Given the description of an element on the screen output the (x, y) to click on. 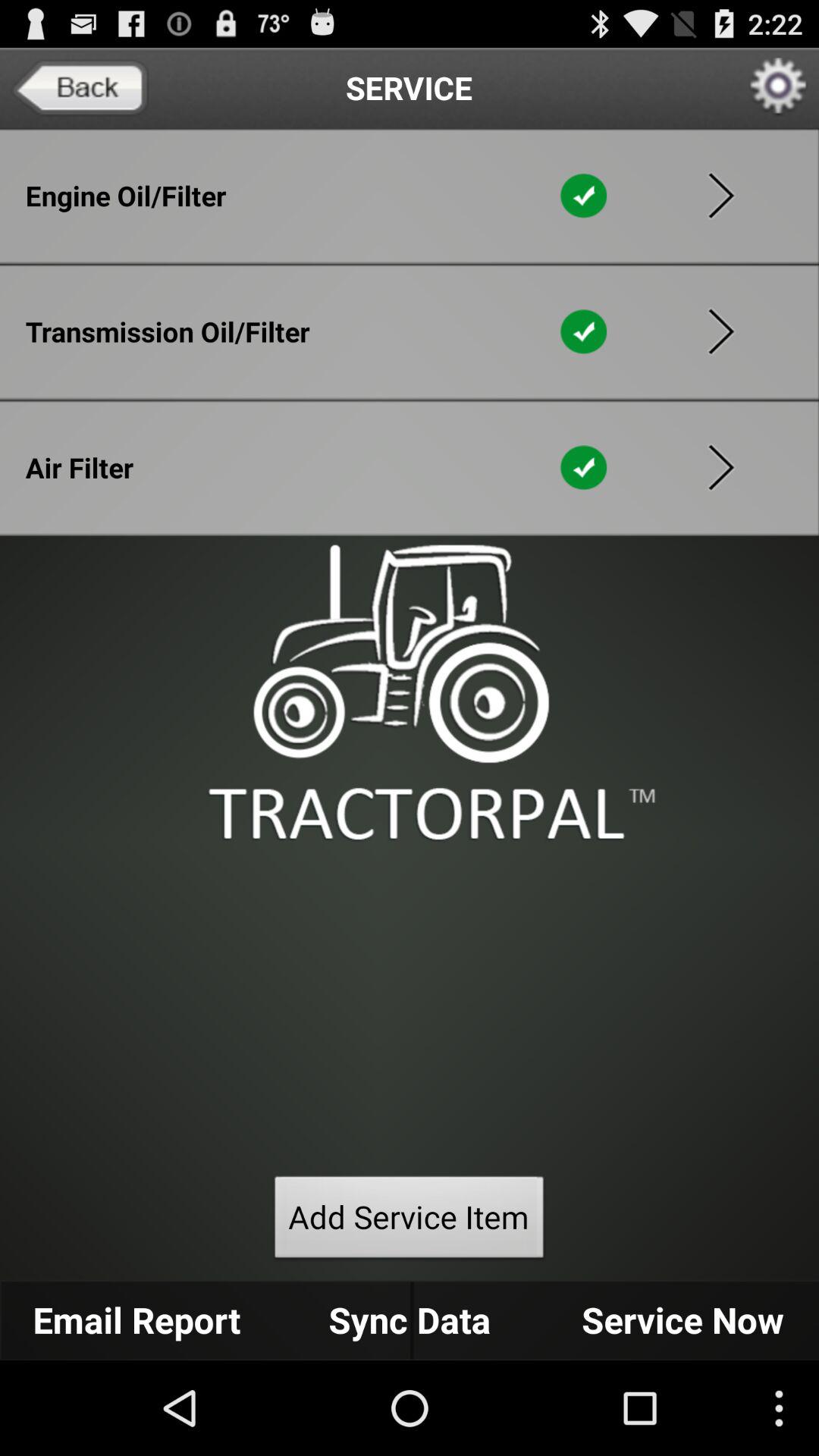
go forward (721, 467)
